Given the description of an element on the screen output the (x, y) to click on. 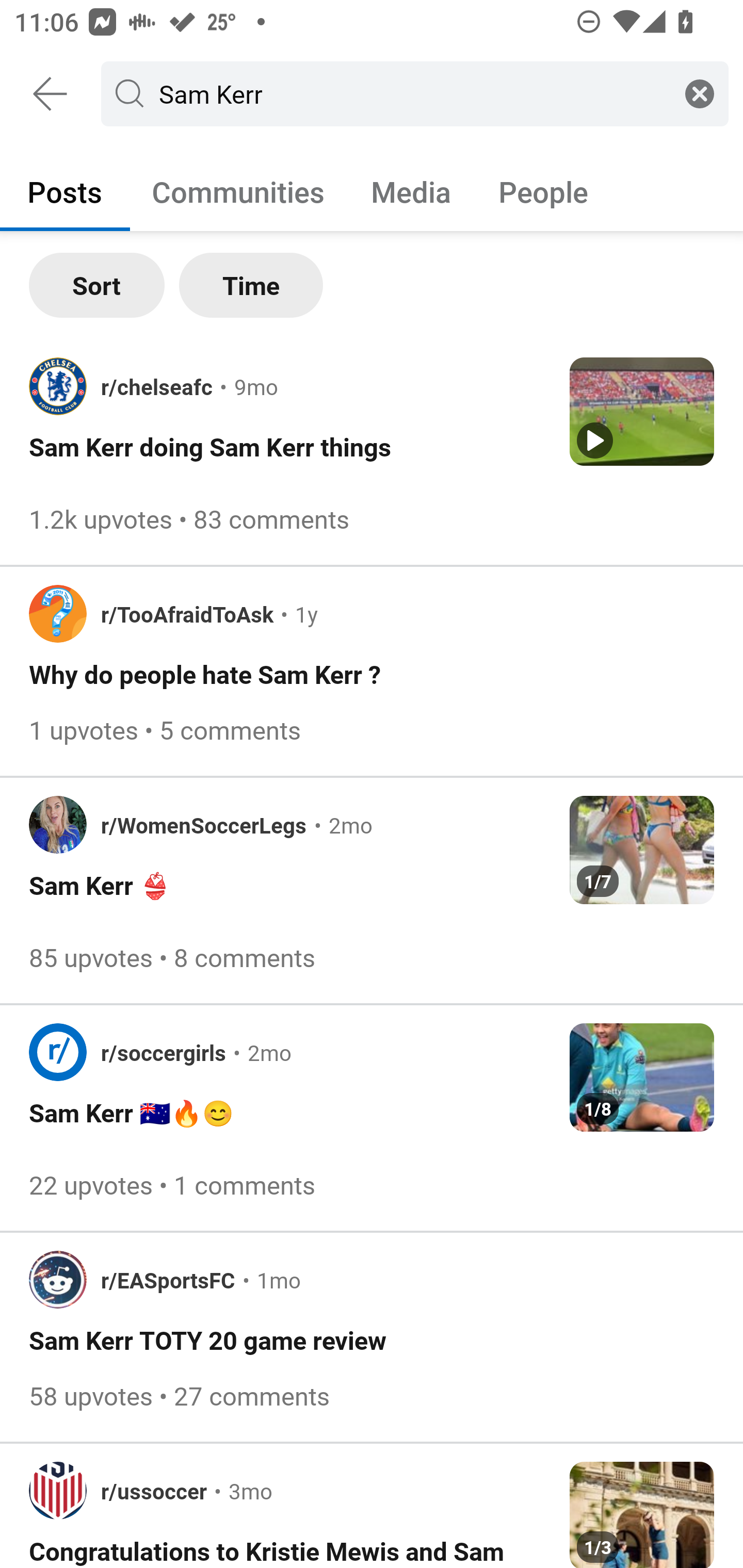
Back (50, 93)
Sam Kerr (410, 93)
Clear search (699, 93)
Communities (238, 191)
Media (411, 191)
People (542, 191)
Sort Sort by Most relevant (96, 285)
Time Filter Time by All time (251, 285)
